Given the description of an element on the screen output the (x, y) to click on. 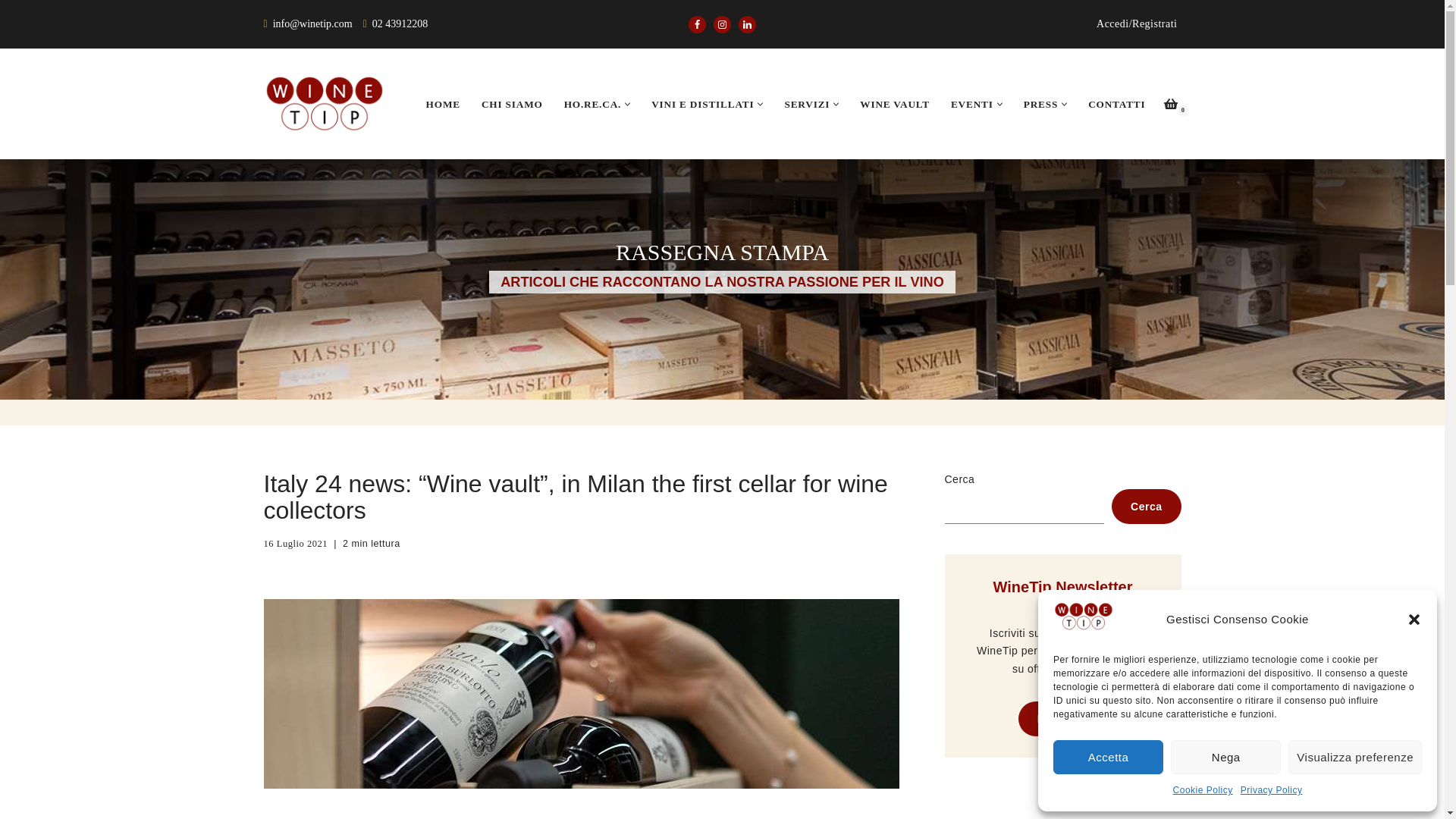
Linkedin (746, 23)
HO.RE.CA. (592, 103)
Accetta (1107, 756)
CHI SIAMO (512, 103)
I tuoi partner del vino (443, 103)
PRESS (1040, 103)
CONTATTI (1115, 103)
Il team di WineTip (512, 103)
Servizi per gli amanti del vino (806, 103)
Instagram (721, 23)
Privacy Policy (1271, 791)
Vini per la ristorazione (592, 103)
Cookie Policy (1203, 791)
Visualizza preferenze (1355, 756)
Vai al contenuto (11, 31)
